Given the description of an element on the screen output the (x, y) to click on. 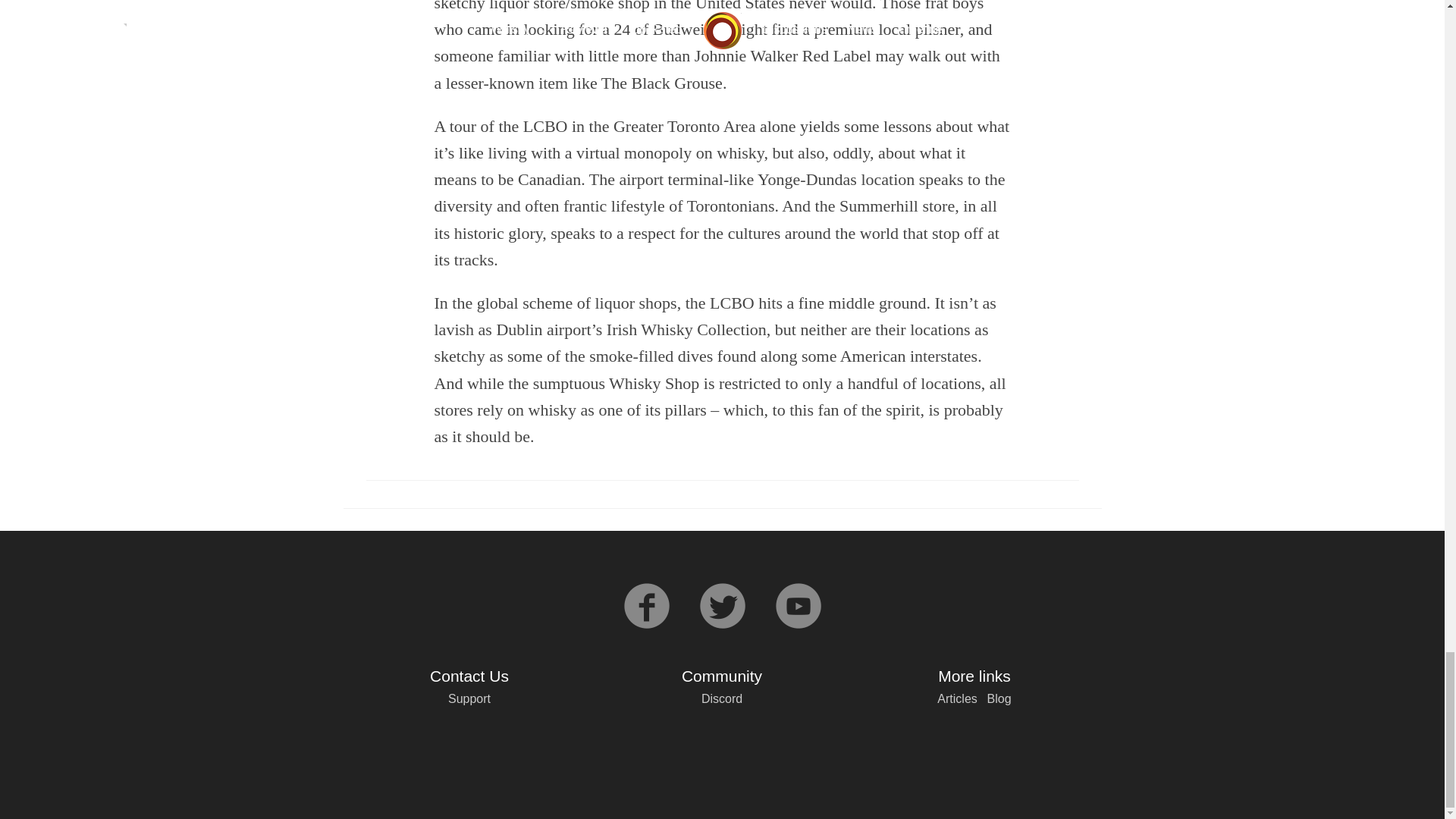
Discord (721, 698)
Blog (999, 698)
Articles (956, 698)
